Given the description of an element on the screen output the (x, y) to click on. 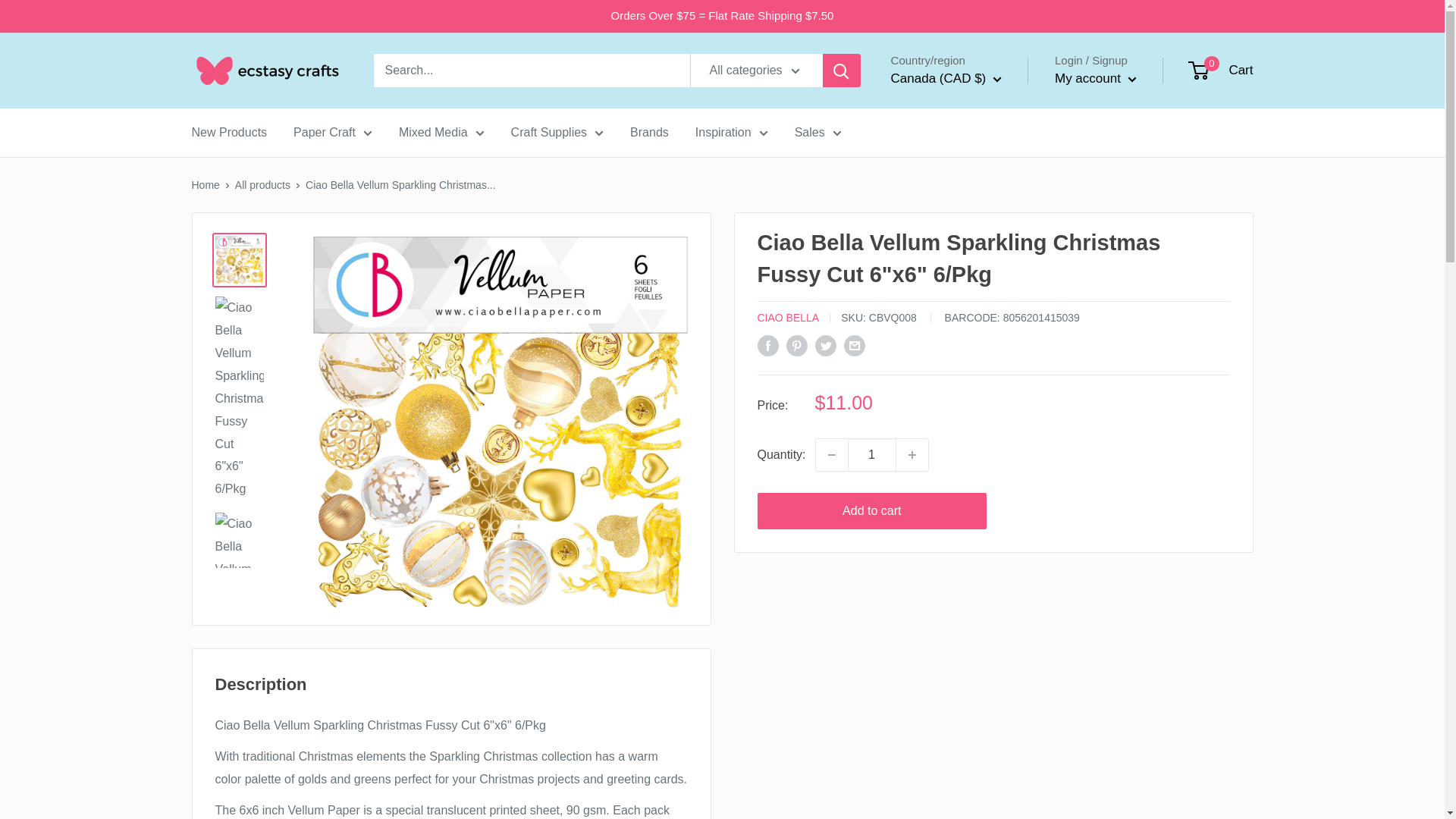
1 (871, 454)
Increase quantity by 1 (912, 454)
Decrease quantity by 1 (831, 454)
